Given the description of an element on the screen output the (x, y) to click on. 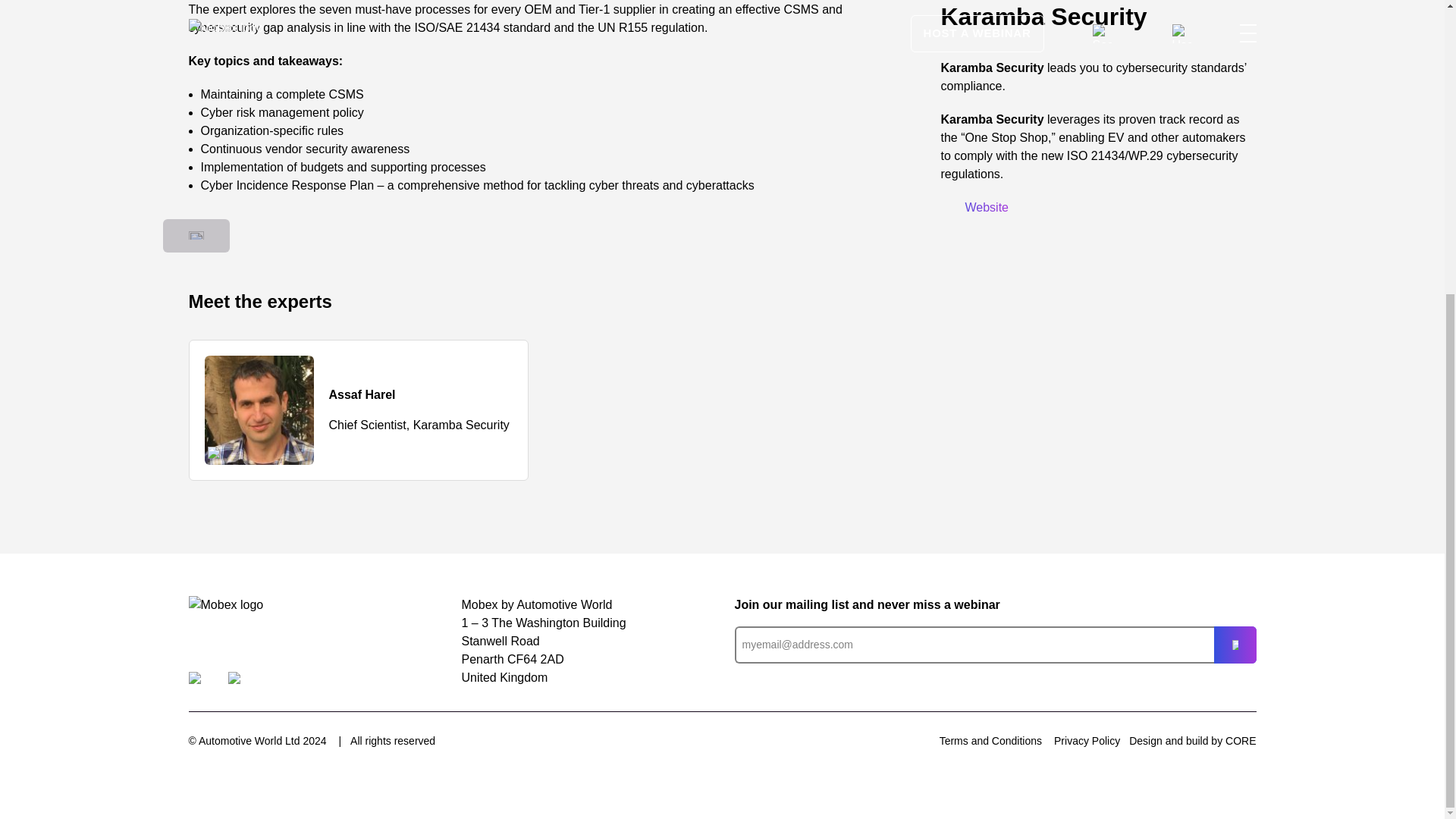
Privacy Policy (1086, 740)
Website (974, 206)
SIGN ME UP (1233, 644)
Terms and Conditions (990, 740)
Design and build by CORE (1192, 741)
